Given the description of an element on the screen output the (x, y) to click on. 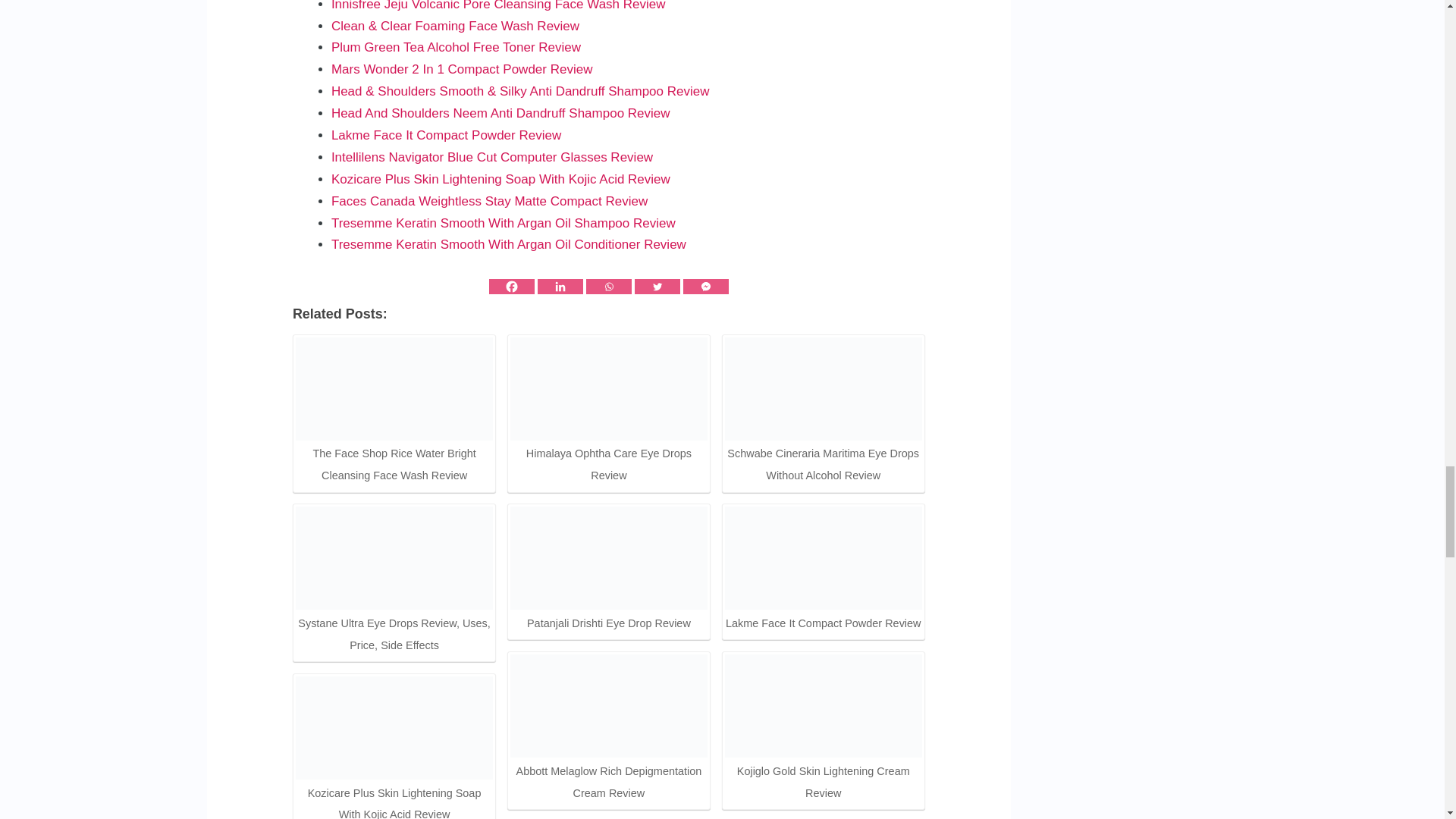
Whatsapp (608, 286)
Systane Ultra Eye Drops Review, Uses, Price, Side Effects (394, 557)
Twitter (656, 286)
Abbott Melaglow Rich Depigmentation Cream Review (609, 705)
Himalaya Ophtha Care Eye Drops Review (609, 388)
Schwabe Cineraria Maritima Eye Drops Without Alcohol Review (823, 388)
Linkedin (560, 286)
Mars Wonder 2 In 1 Compact Powder Review (461, 69)
Kozicare Plus Skin Lightening Soap With Kojic Acid Review (394, 727)
Innisfree Jeju Volcanic Pore Cleansing Face Wash Review (498, 5)
Plum Green Tea Alcohol Free Toner Review (455, 47)
Facebook (511, 286)
Patanjali Drishti Eye Drop Review (609, 557)
The Face Shop Rice Water Bright Cleansing Face Wash Review (394, 388)
